Given the description of an element on the screen output the (x, y) to click on. 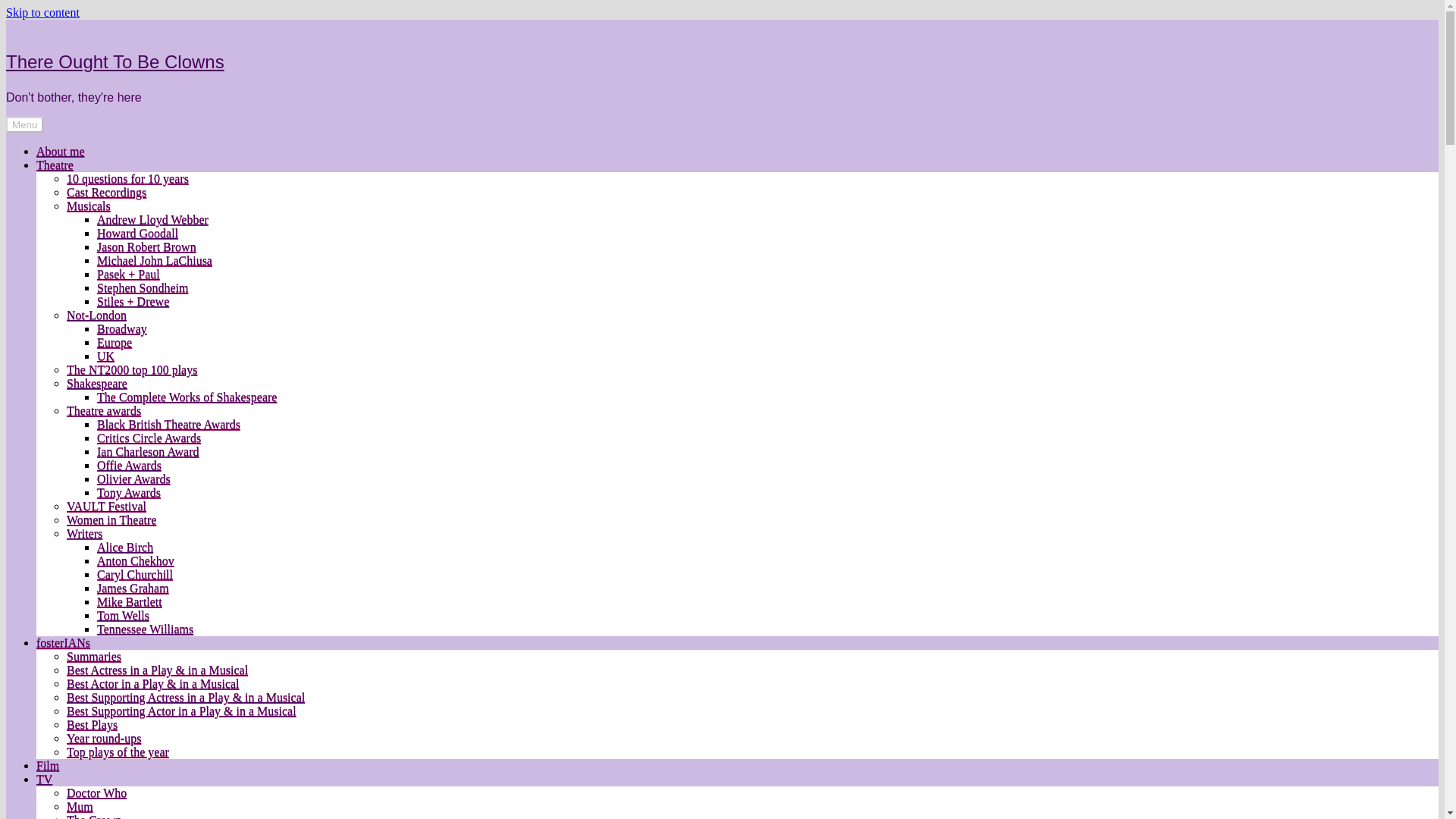
Europe (114, 341)
Mike Bartlett (129, 601)
There Ought To Be Clowns (114, 61)
James Graham (132, 587)
About me (60, 151)
Skip to content (42, 11)
Musicals (88, 205)
Broadway (122, 328)
Ian Charleson Award (148, 451)
Theatre (55, 164)
Not-London (96, 314)
Caryl Churchill (135, 574)
Anton Chekhov (135, 560)
Tony Awards (128, 492)
UK (106, 355)
